Given the description of an element on the screen output the (x, y) to click on. 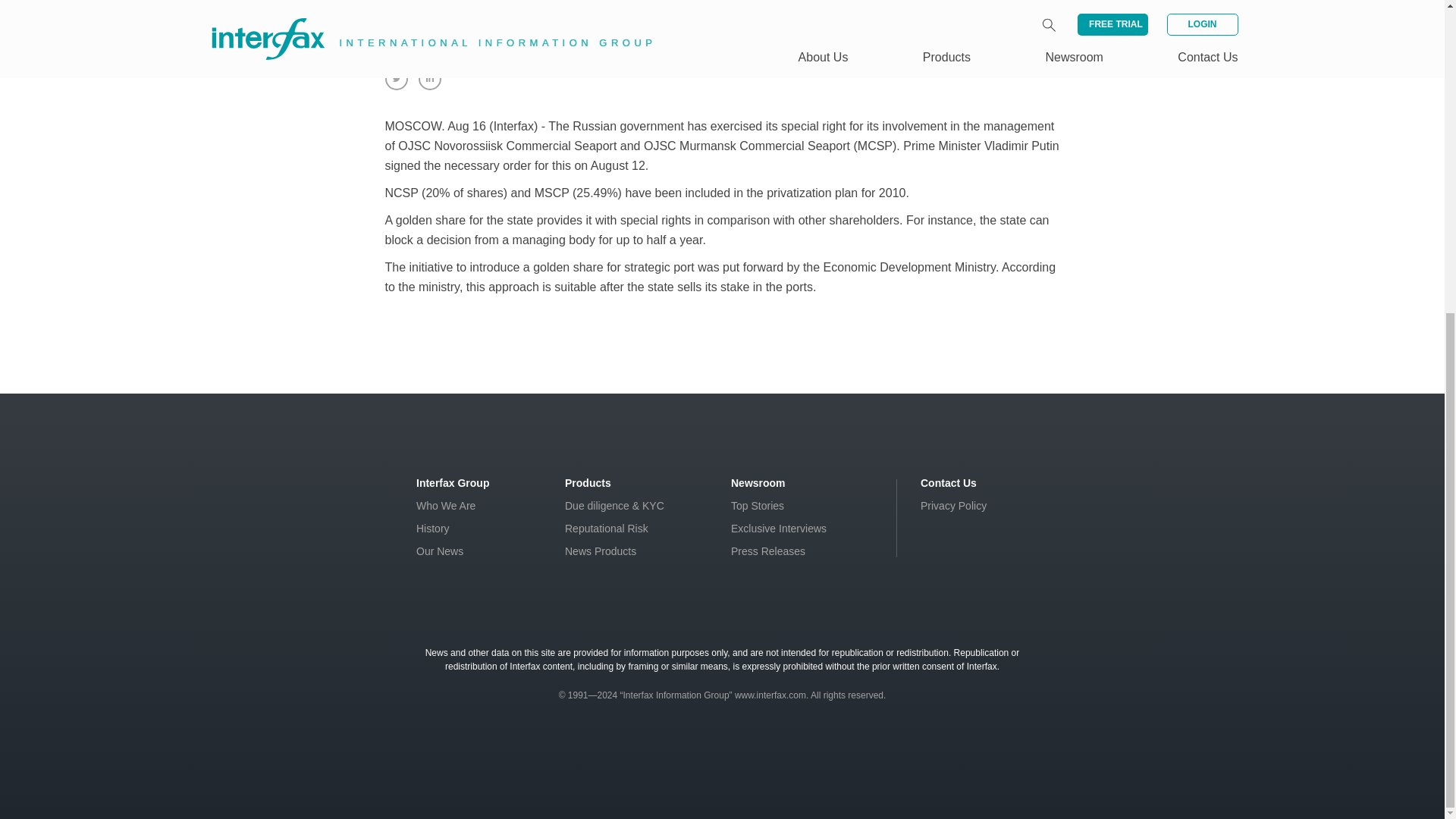
History (432, 528)
Who We Are (446, 505)
Interfax Group (452, 482)
Our News (439, 551)
